Given the description of an element on the screen output the (x, y) to click on. 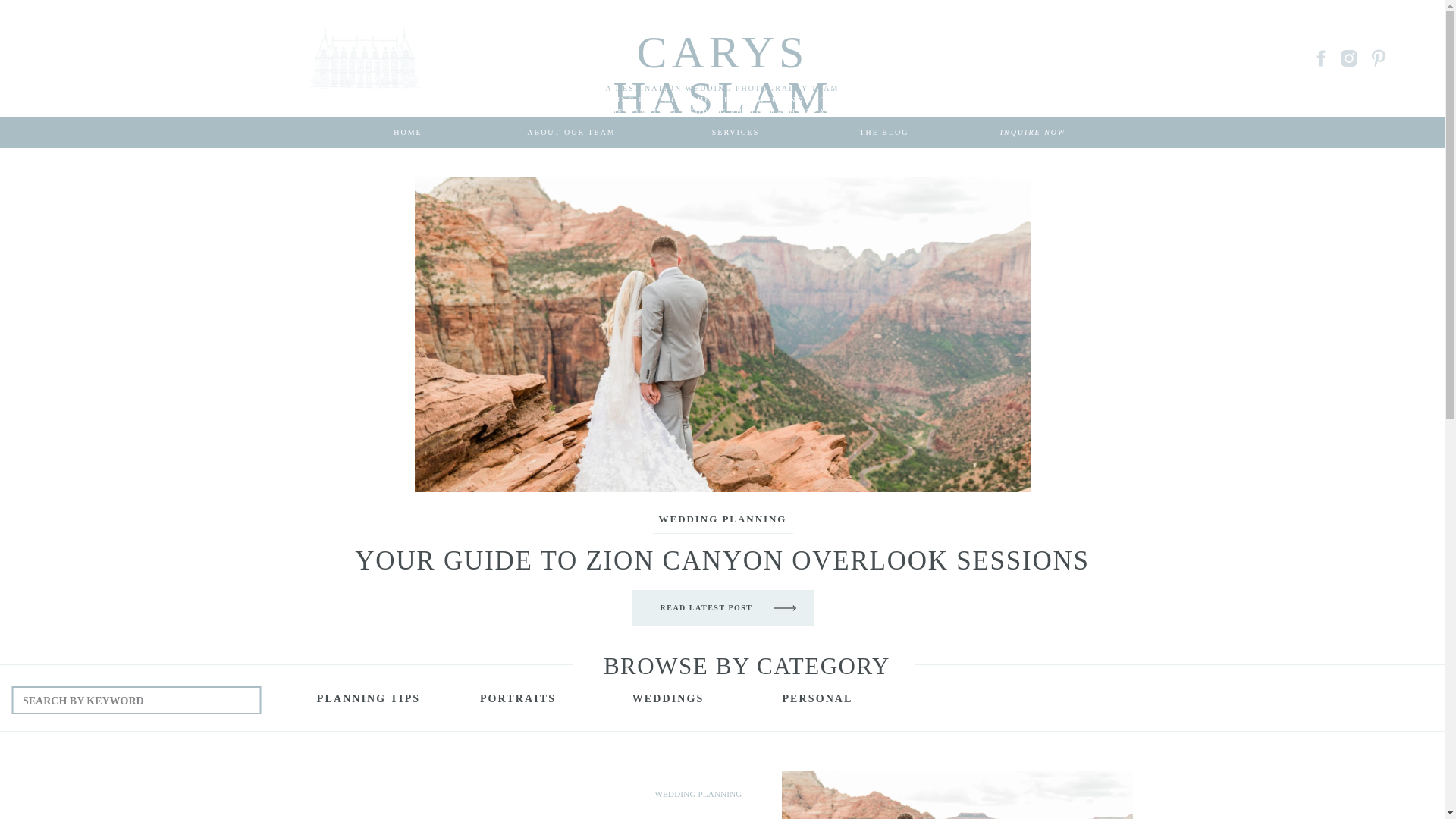
CARYS HASLAM (721, 41)
WEDDING PLANNING (723, 518)
READ LATEST POST (705, 611)
YOUR GUIDE TO ZION CANYON OVERLOOK SESSIONS (722, 560)
WEDDINGS (667, 701)
INQUIRE NOW (1032, 132)
PERSONAL (817, 701)
Your Guide to Zion Canyon Overlook Sessions (956, 795)
ABOUT OUR TEAM (571, 132)
Your Guide to Zion Canyon Overlook Sessions (705, 611)
THE BLOG (884, 132)
PLANNING TIPS (367, 701)
SERVICES (735, 132)
PORTRAITS (517, 701)
